Given the description of an element on the screen output the (x, y) to click on. 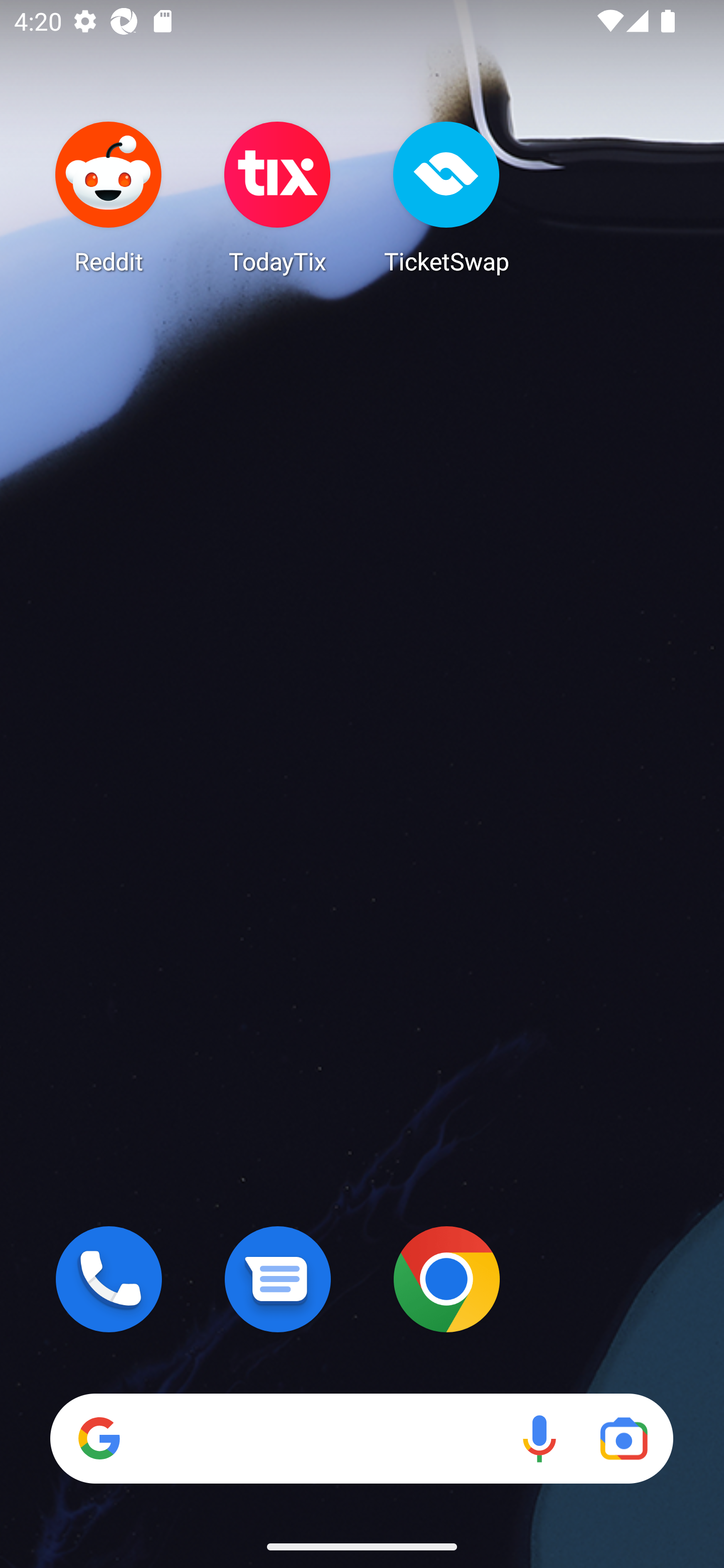
Reddit (108, 196)
TodayTix (277, 196)
TicketSwap (445, 196)
Phone (108, 1279)
Messages (277, 1279)
Chrome (446, 1279)
Voice search (539, 1438)
Google Lens (623, 1438)
